Given the description of an element on the screen output the (x, y) to click on. 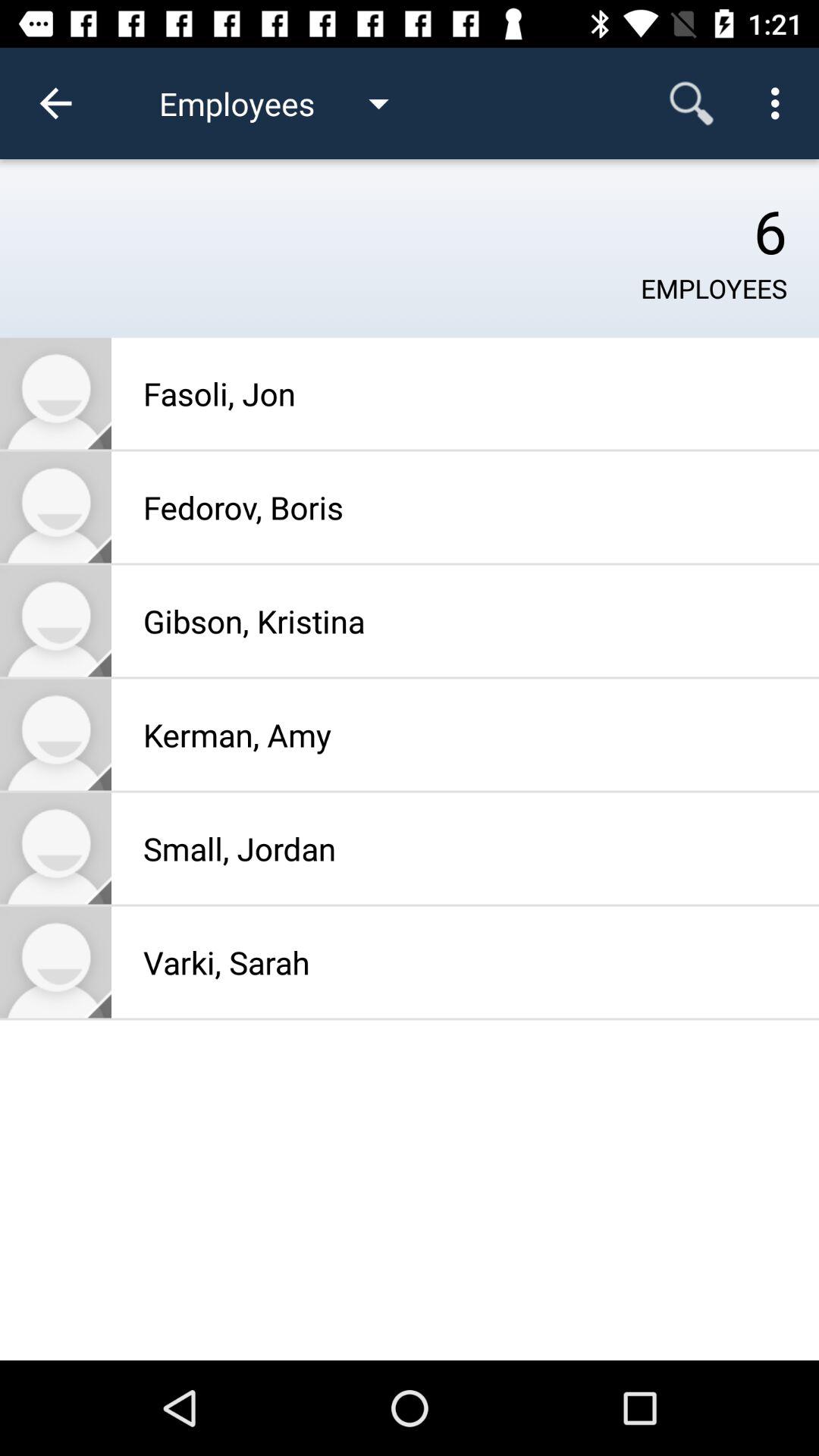
contact icon (55, 848)
